Given the description of an element on the screen output the (x, y) to click on. 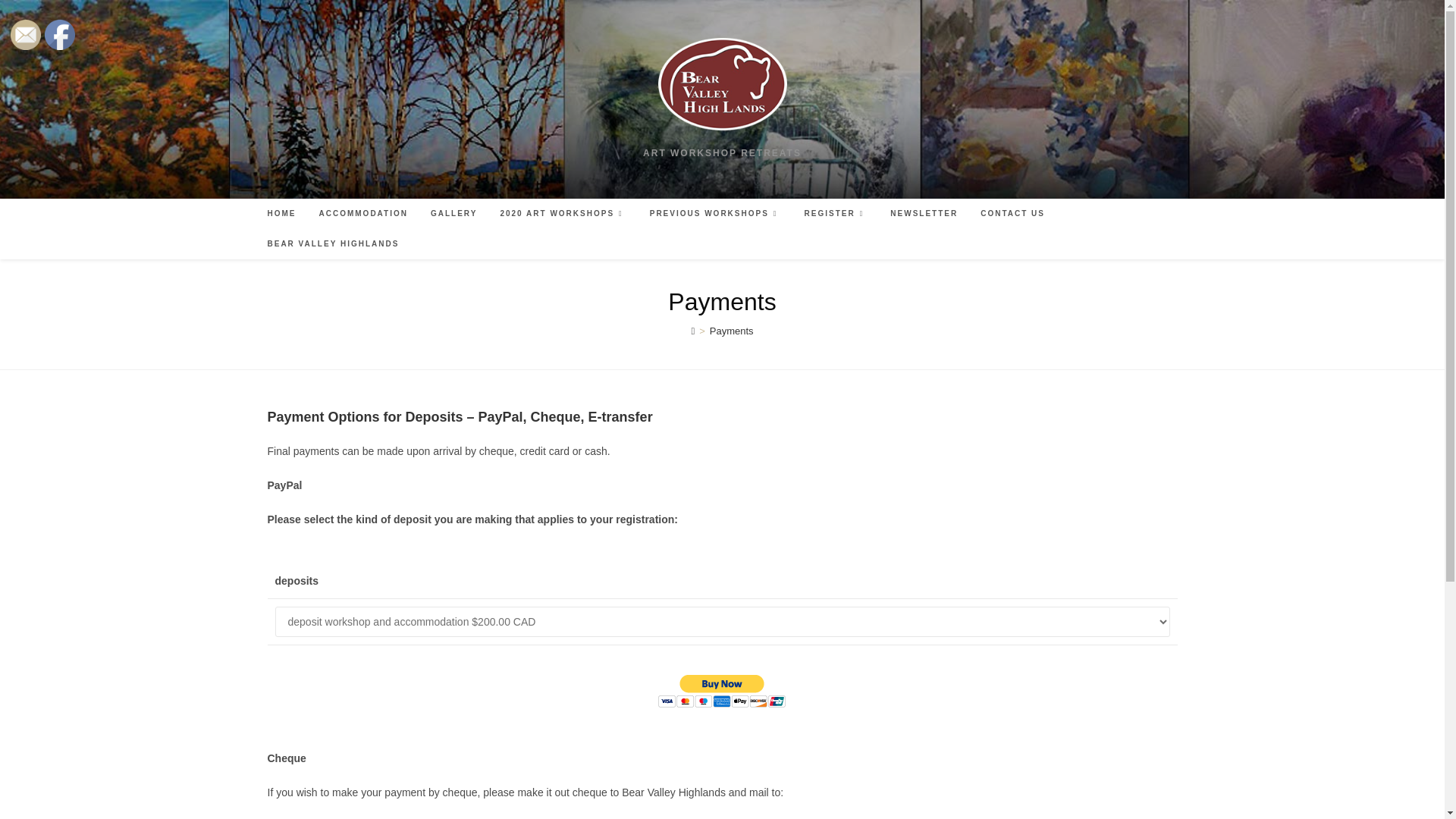
Follow by Email (25, 34)
HOME (281, 214)
ACCOMMODATION (363, 214)
PREVIOUS WORKSHOPS (716, 214)
Payments (732, 330)
Facebook (60, 34)
REGISTER (836, 214)
NEWSLETTER (924, 214)
GALLERY (453, 214)
2020 ART WORKSHOPS (562, 214)
